Given the description of an element on the screen output the (x, y) to click on. 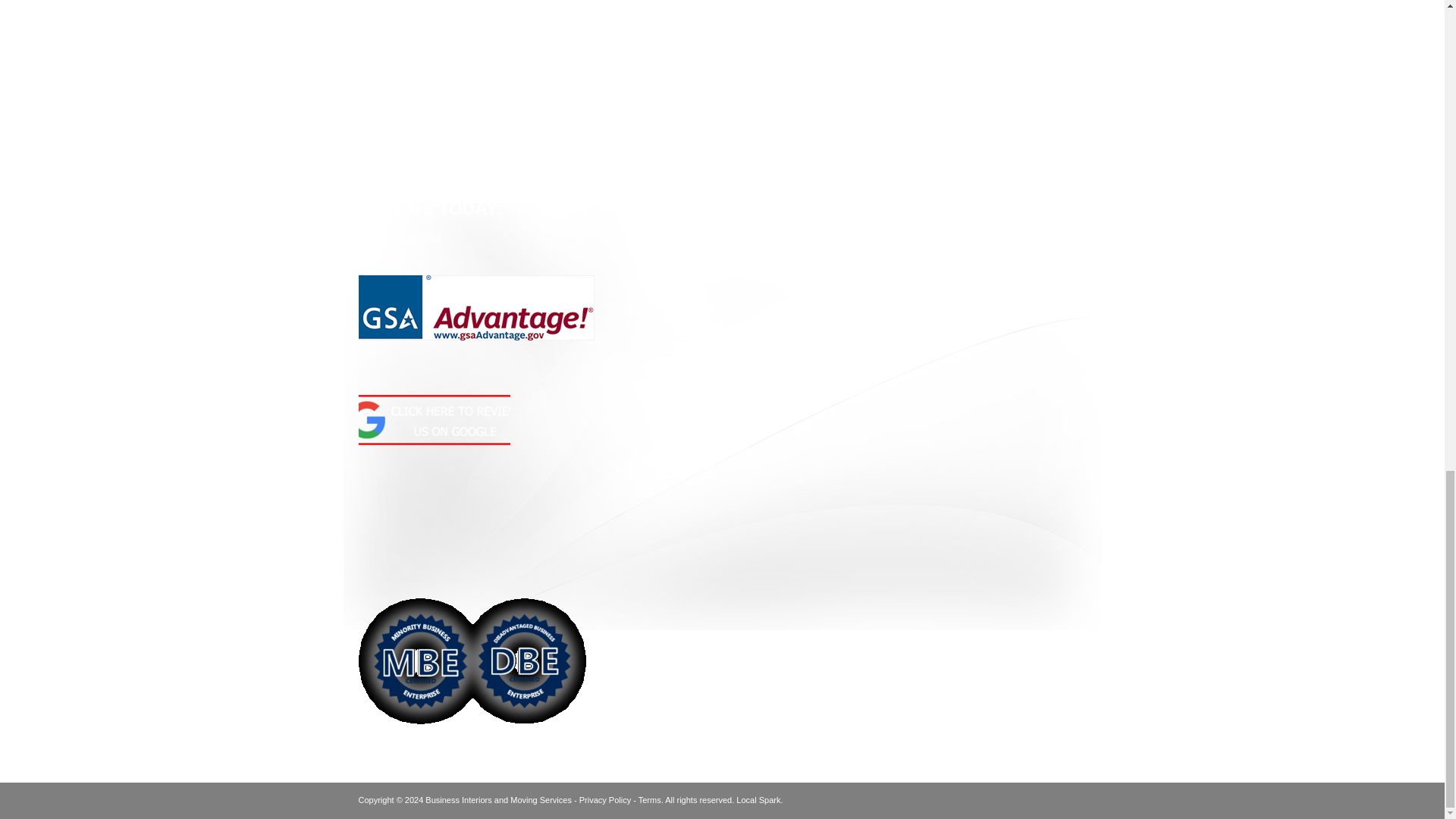
Local Spark (758, 799)
Privacy Policy (604, 799)
757.466.0054 (559, 208)
Terms (650, 799)
